Given the description of an element on the screen output the (x, y) to click on. 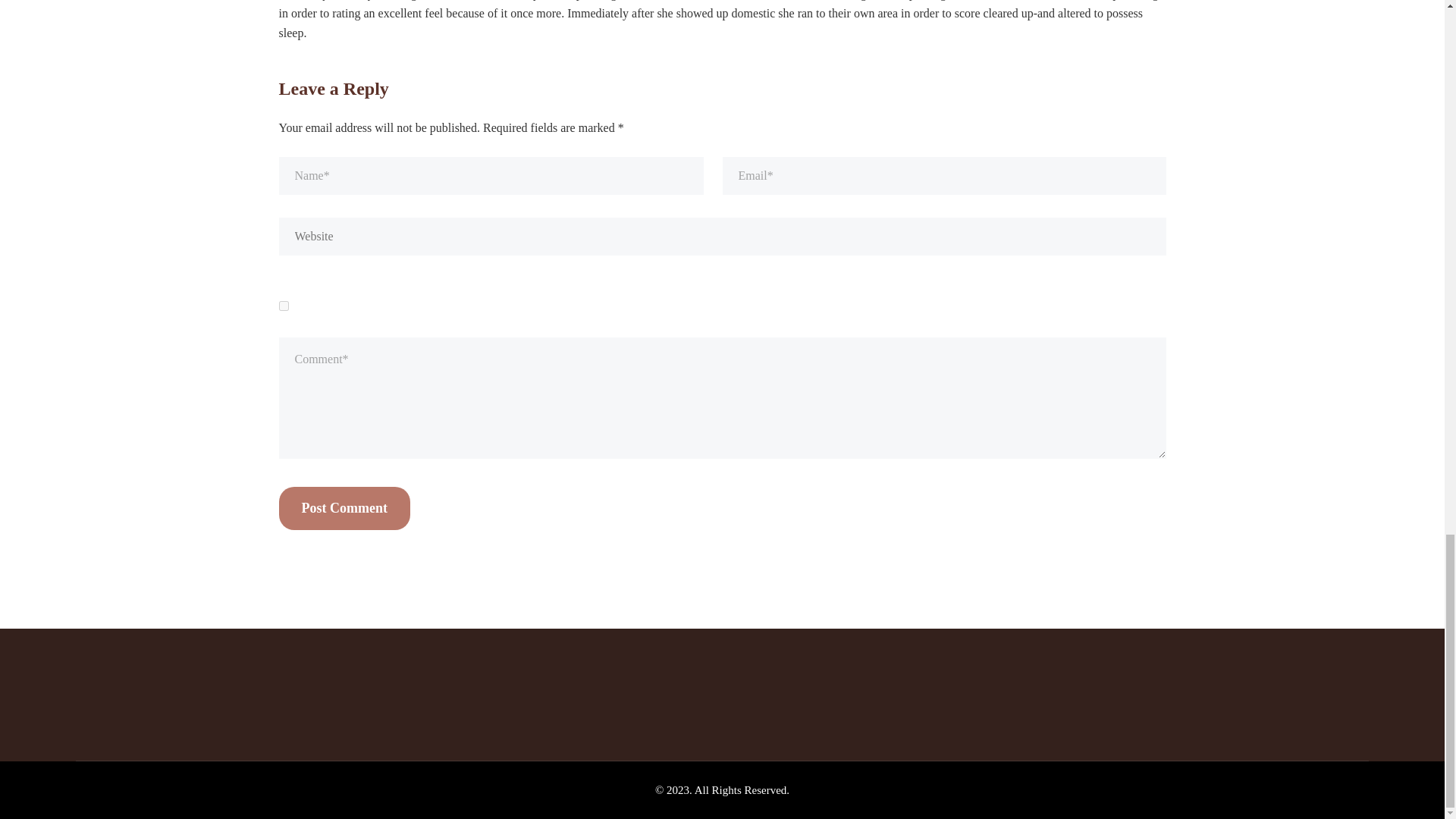
yes (283, 306)
Post Comment (344, 507)
Post Comment (344, 507)
